Given the description of an element on the screen output the (x, y) to click on. 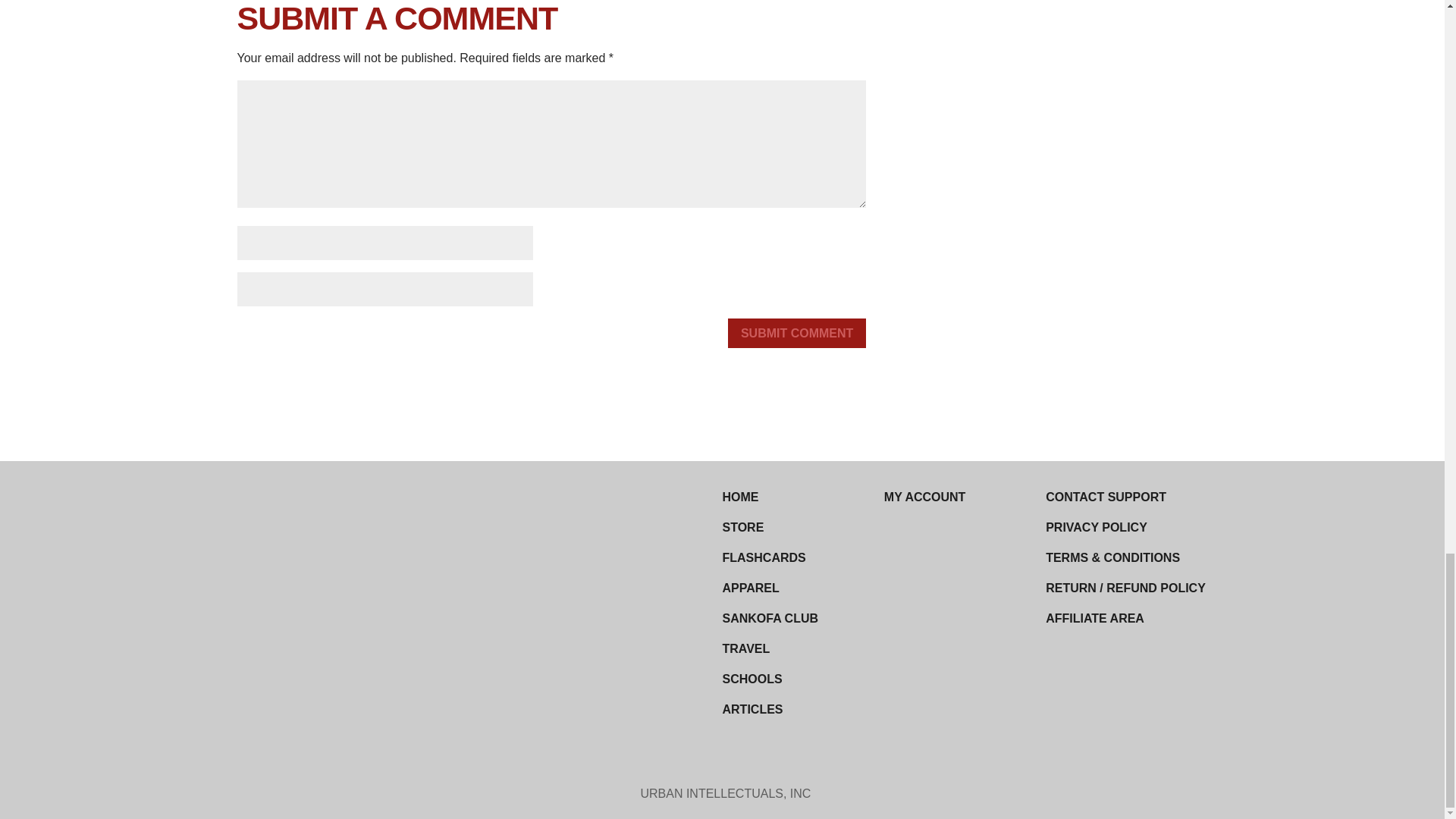
footer-img (370, 511)
ByBlackCertified (383, 671)
